Given the description of an element on the screen output the (x, y) to click on. 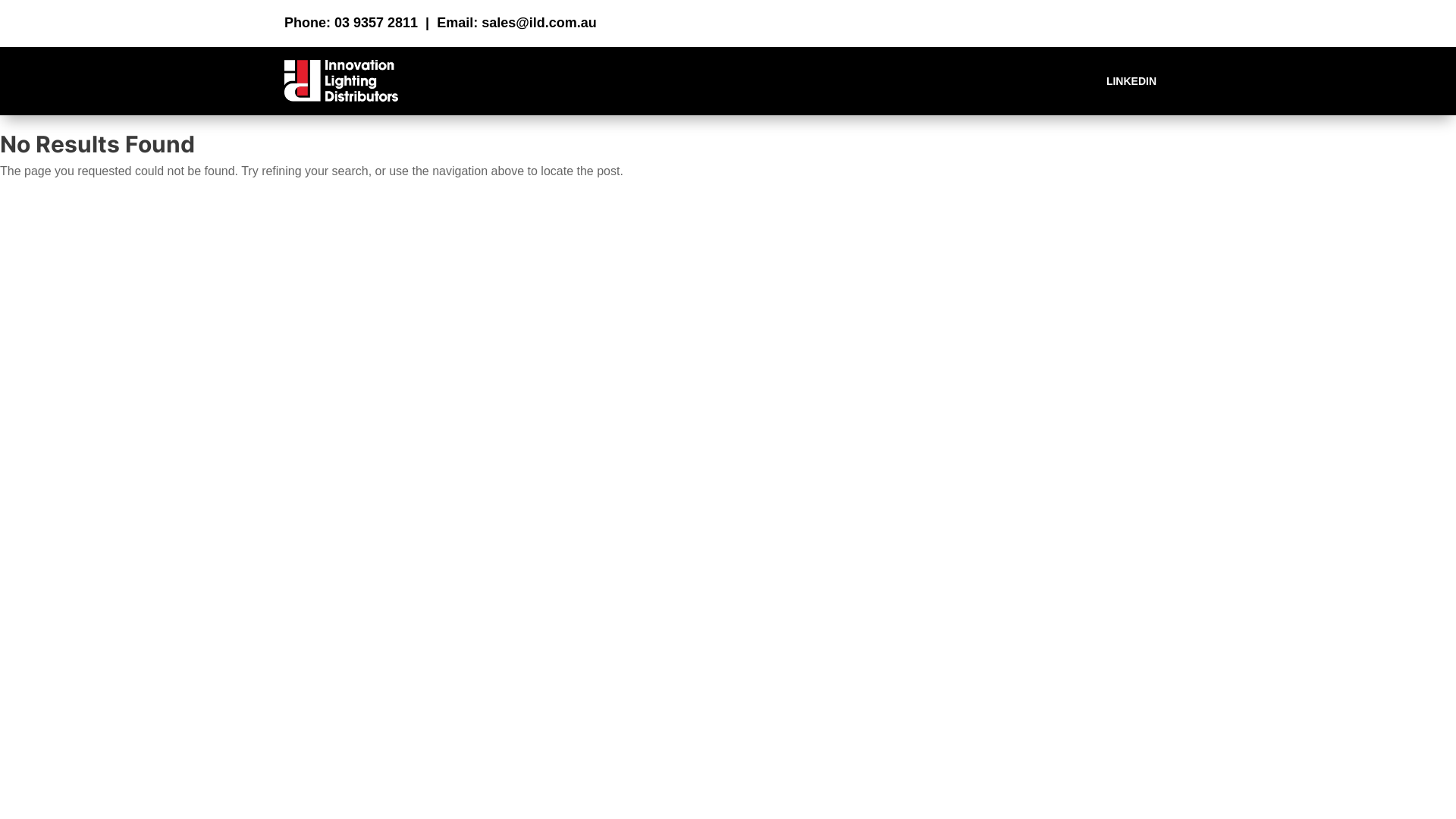
LINKEDIN Element type: text (1131, 80)
sales@ild.com.au Element type: text (538, 22)
